Given the description of an element on the screen output the (x, y) to click on. 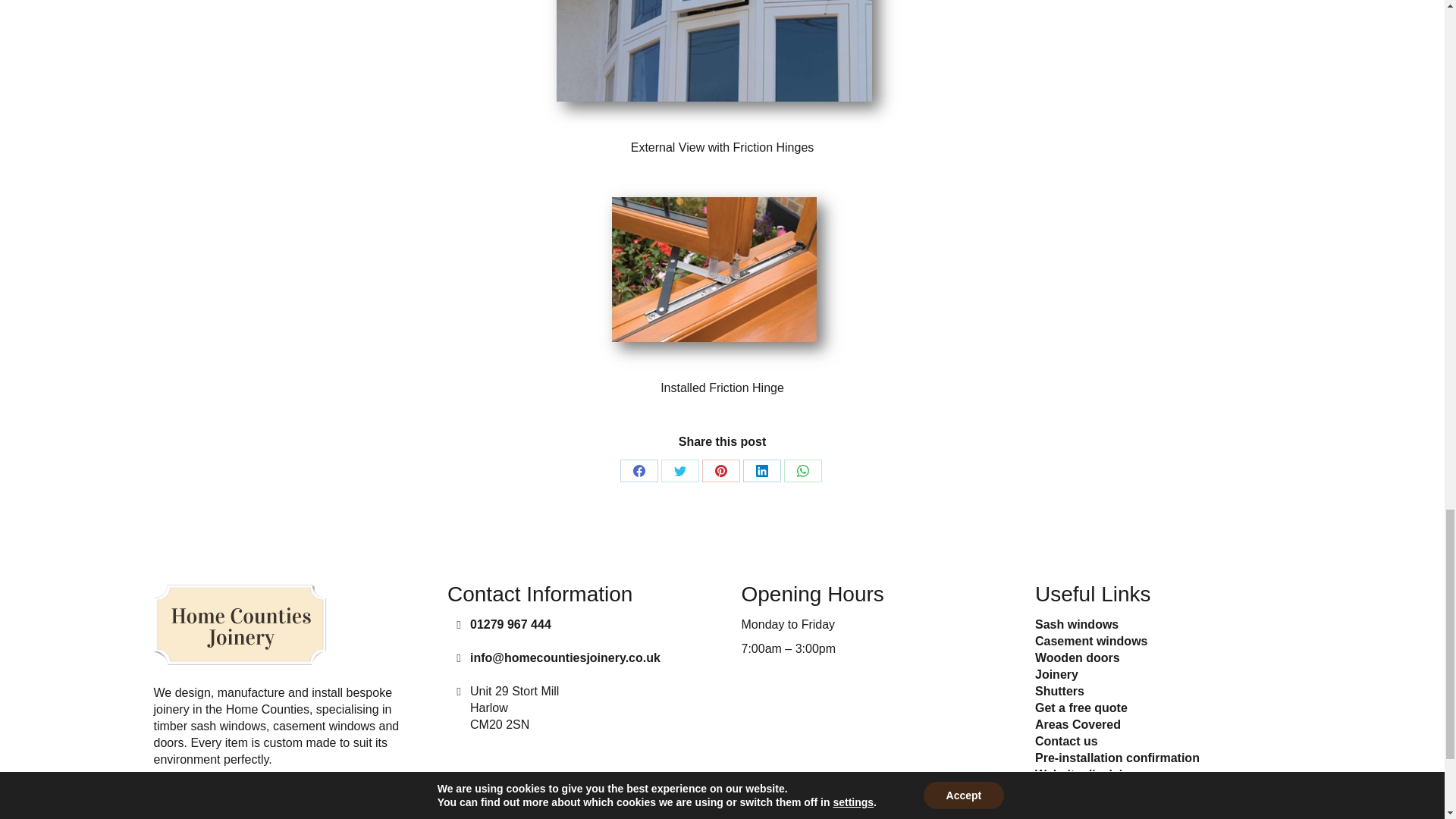
Facebook (639, 470)
WhatsApp (803, 470)
Send us a message! (565, 657)
Twitter (679, 470)
LinkedIn (761, 470)
Pinterest (720, 470)
Give us a call! (510, 624)
